Given the description of an element on the screen output the (x, y) to click on. 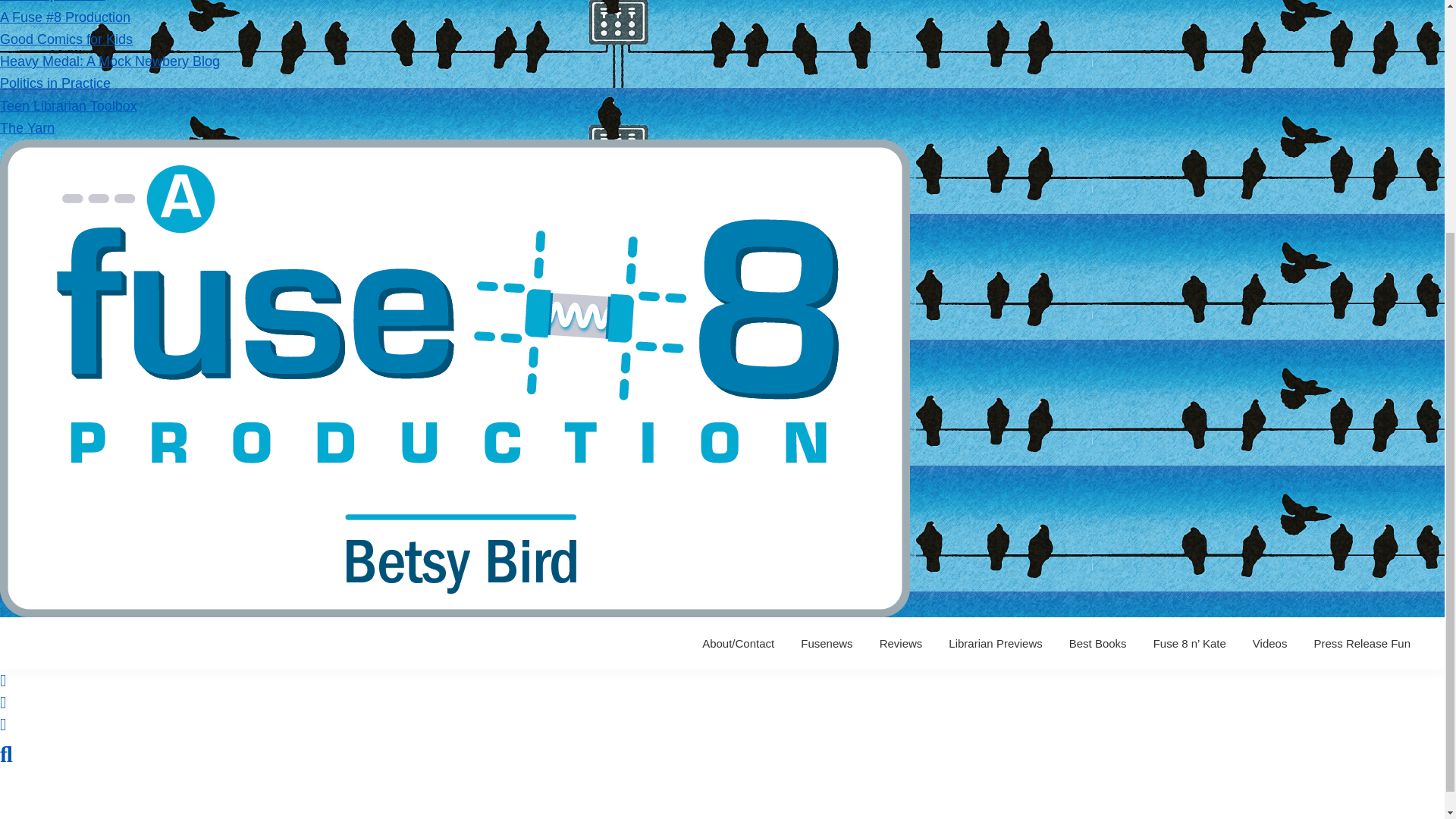
Good Comics for Kids (66, 38)
The Yarn (27, 127)
100 Scope Notes (52, 1)
Fusenews (826, 643)
Best Books (1098, 643)
Heavy Medal: A Mock Newbery Blog (109, 61)
Press Release Fun (1361, 643)
Teen Librarian Toolbox (68, 105)
Librarian Previews (994, 643)
